Given the description of an element on the screen output the (x, y) to click on. 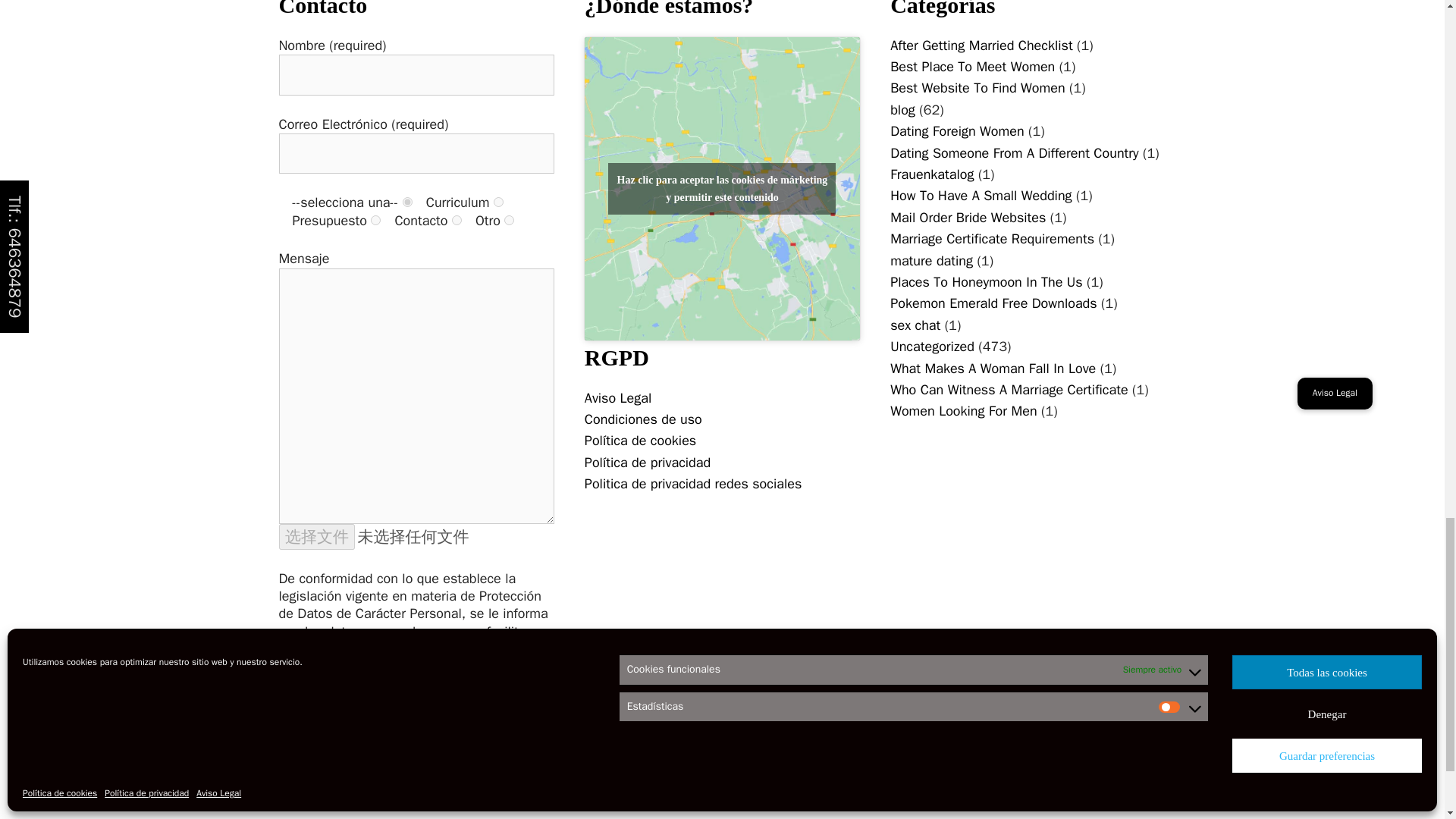
Aviso Legal (617, 397)
Enviar (315, 812)
Presupuesto (375, 220)
Enviar (315, 812)
Otro (508, 220)
Curriculum (498, 202)
Contacto (456, 220)
--selecciona una-- (407, 202)
Condiciones de uso (643, 419)
Politica de Privacidad (415, 719)
